Given the description of an element on the screen output the (x, y) to click on. 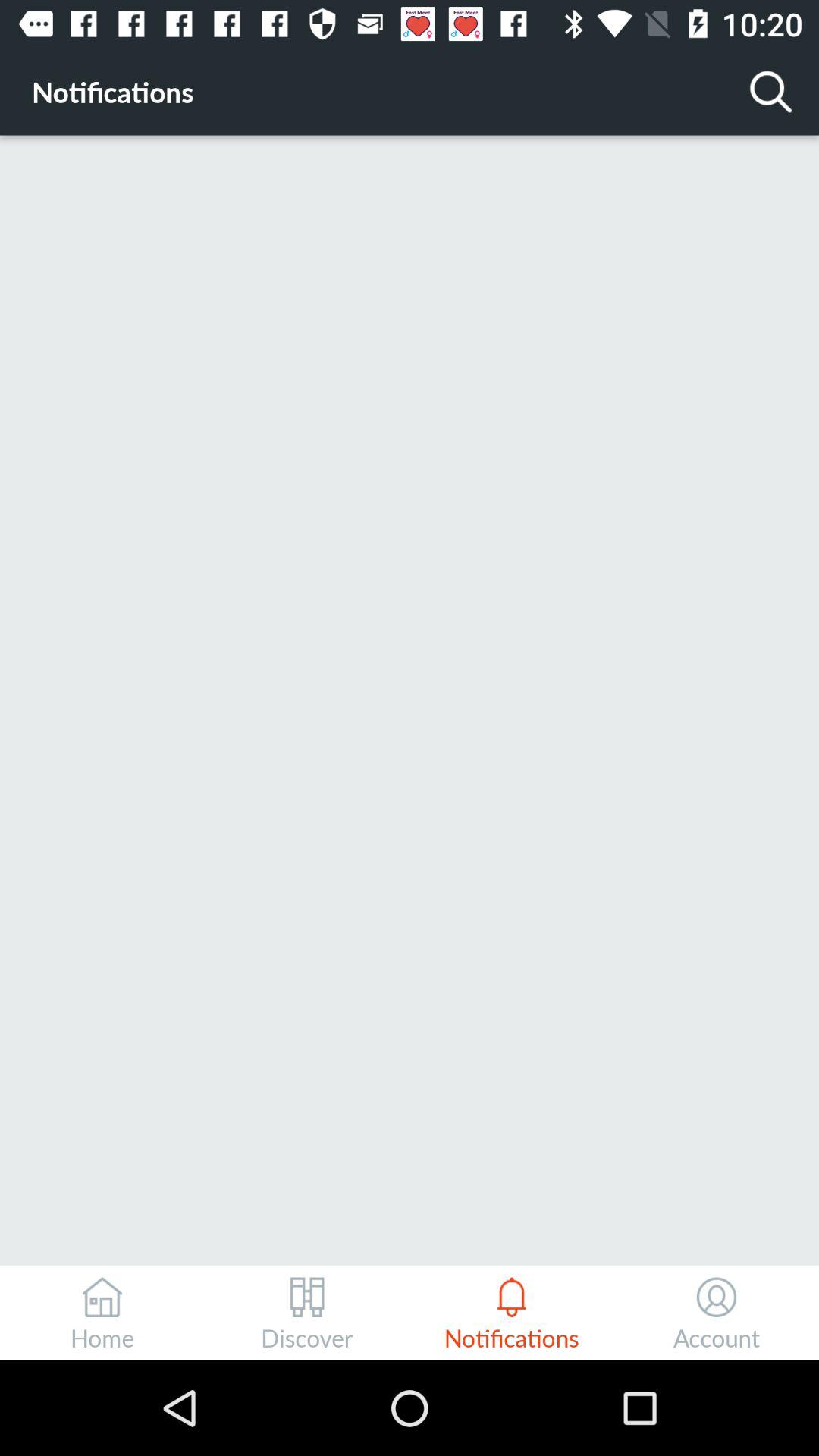
select icon at the center (409, 699)
